Given the description of an element on the screen output the (x, y) to click on. 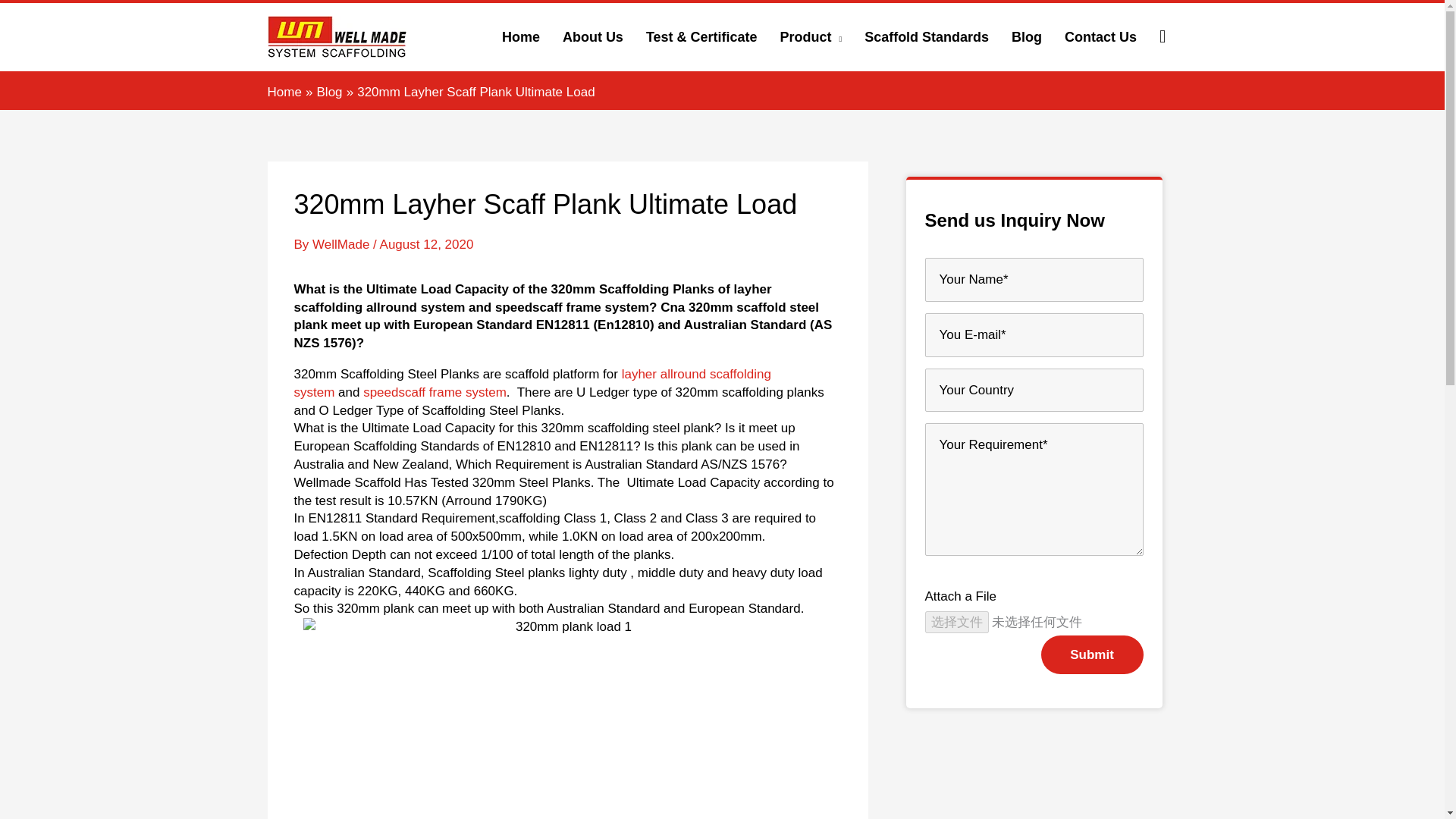
Product (810, 37)
Submit (1091, 654)
About Us (592, 37)
View all posts by WellMade (342, 244)
